Given the description of an element on the screen output the (x, y) to click on. 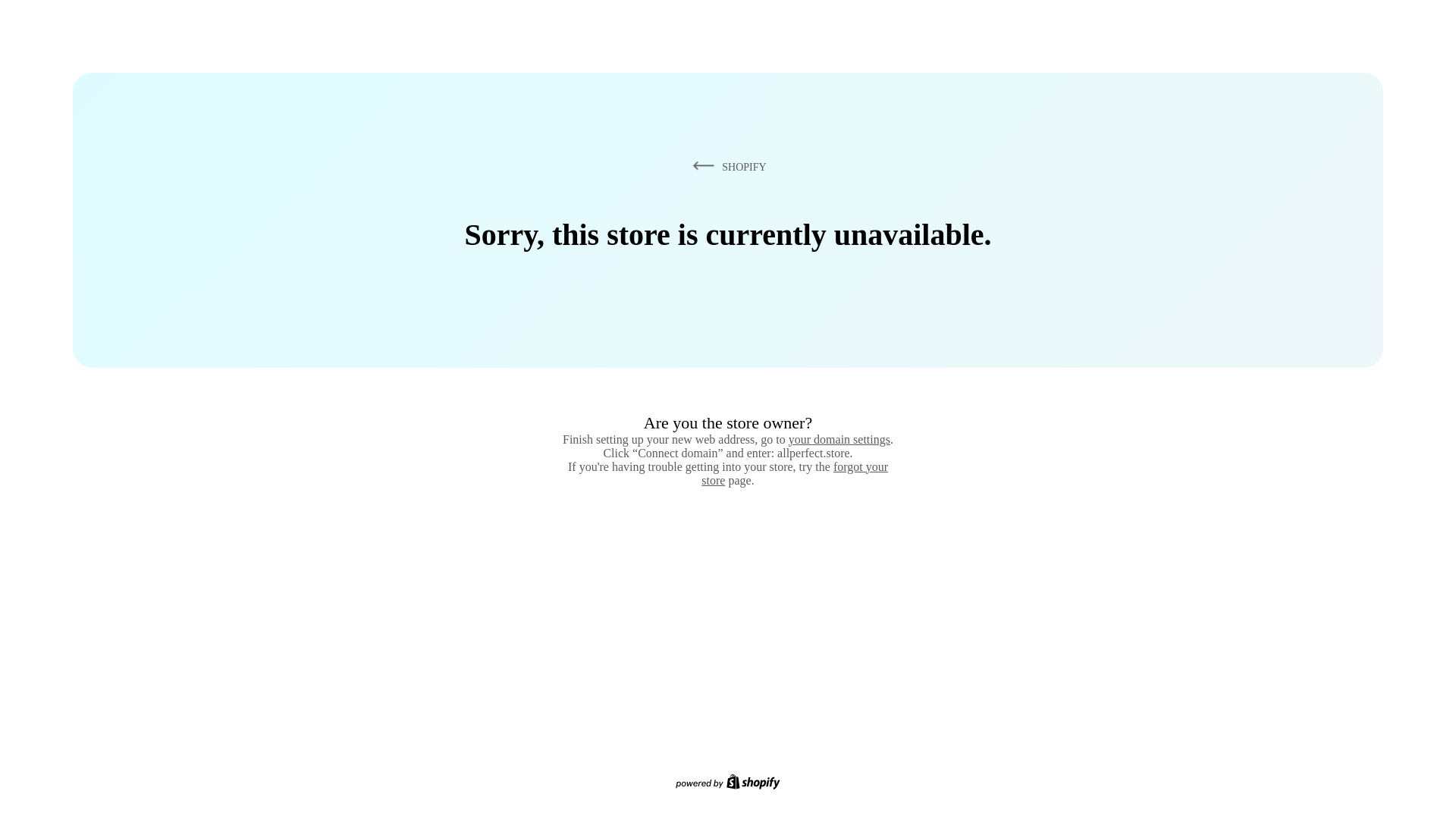
your domain settings (839, 439)
forgot your store (794, 473)
SHOPIFY (726, 166)
